Given the description of an element on the screen output the (x, y) to click on. 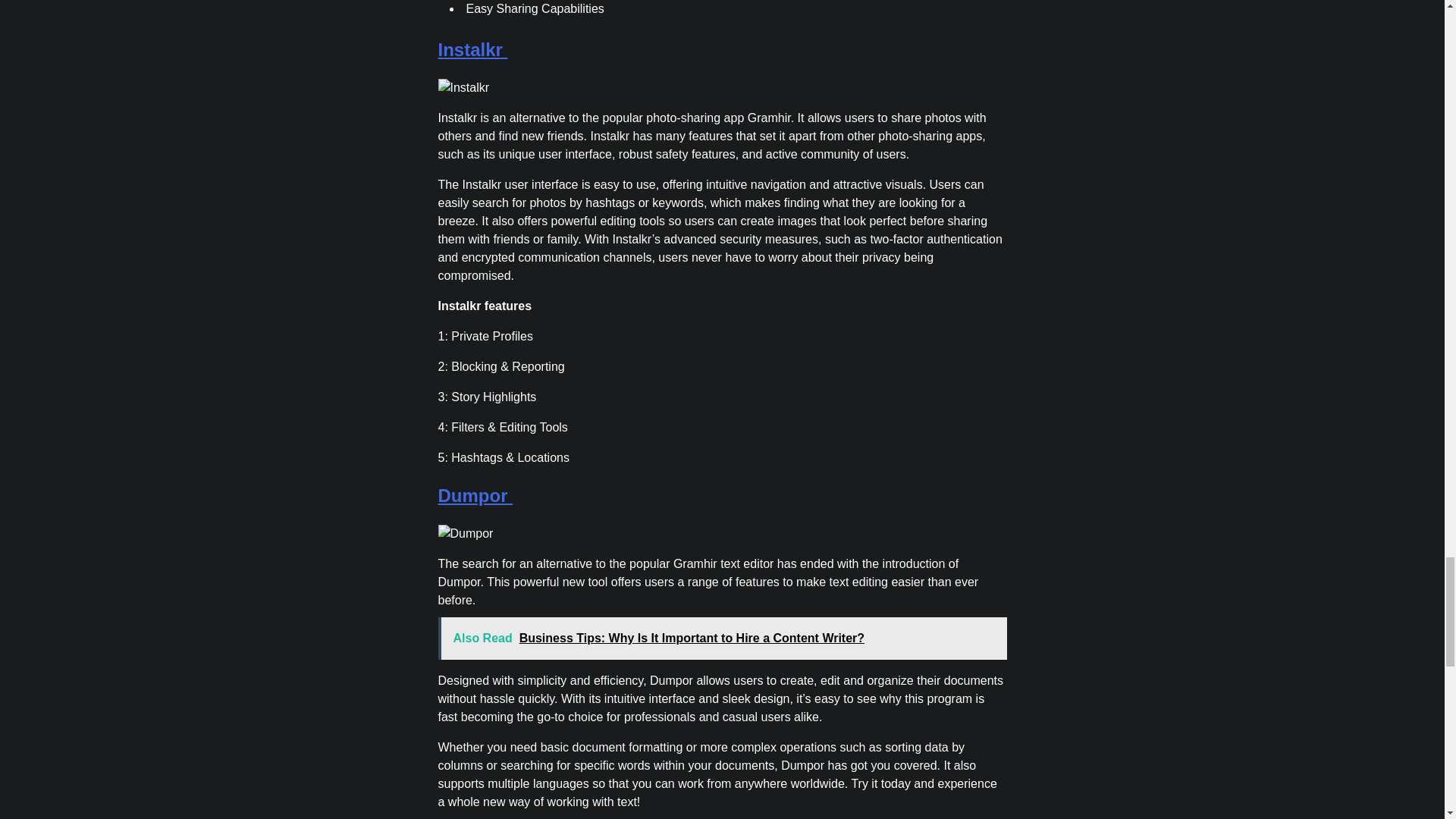
Dumpor  (475, 495)
Instalkr  (473, 49)
